Given the description of an element on the screen output the (x, y) to click on. 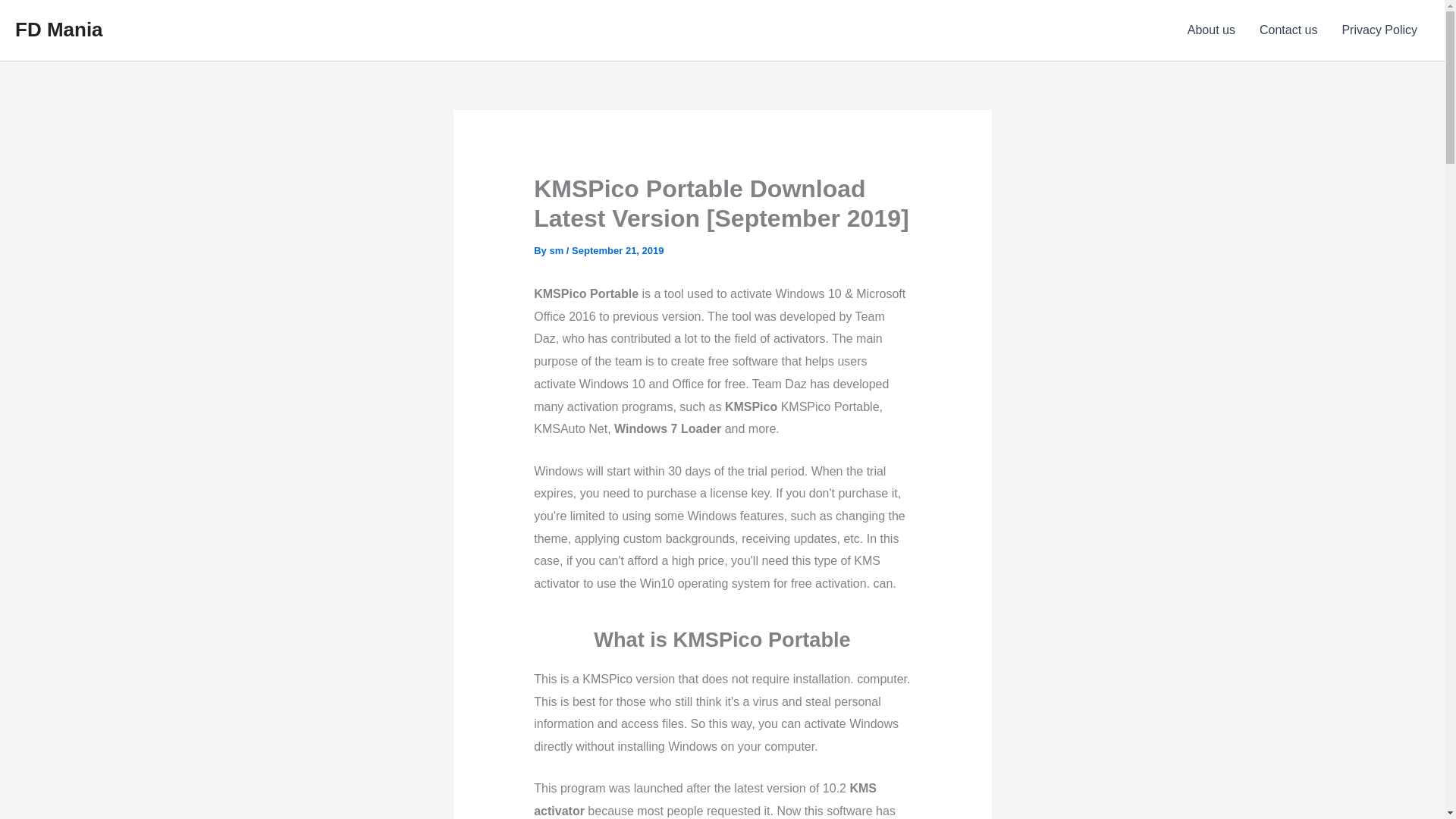
Contact us (1288, 30)
sm (557, 250)
About us (1210, 30)
Privacy Policy (1379, 30)
View all posts by sm (557, 250)
FD Mania (58, 29)
